Given the description of an element on the screen output the (x, y) to click on. 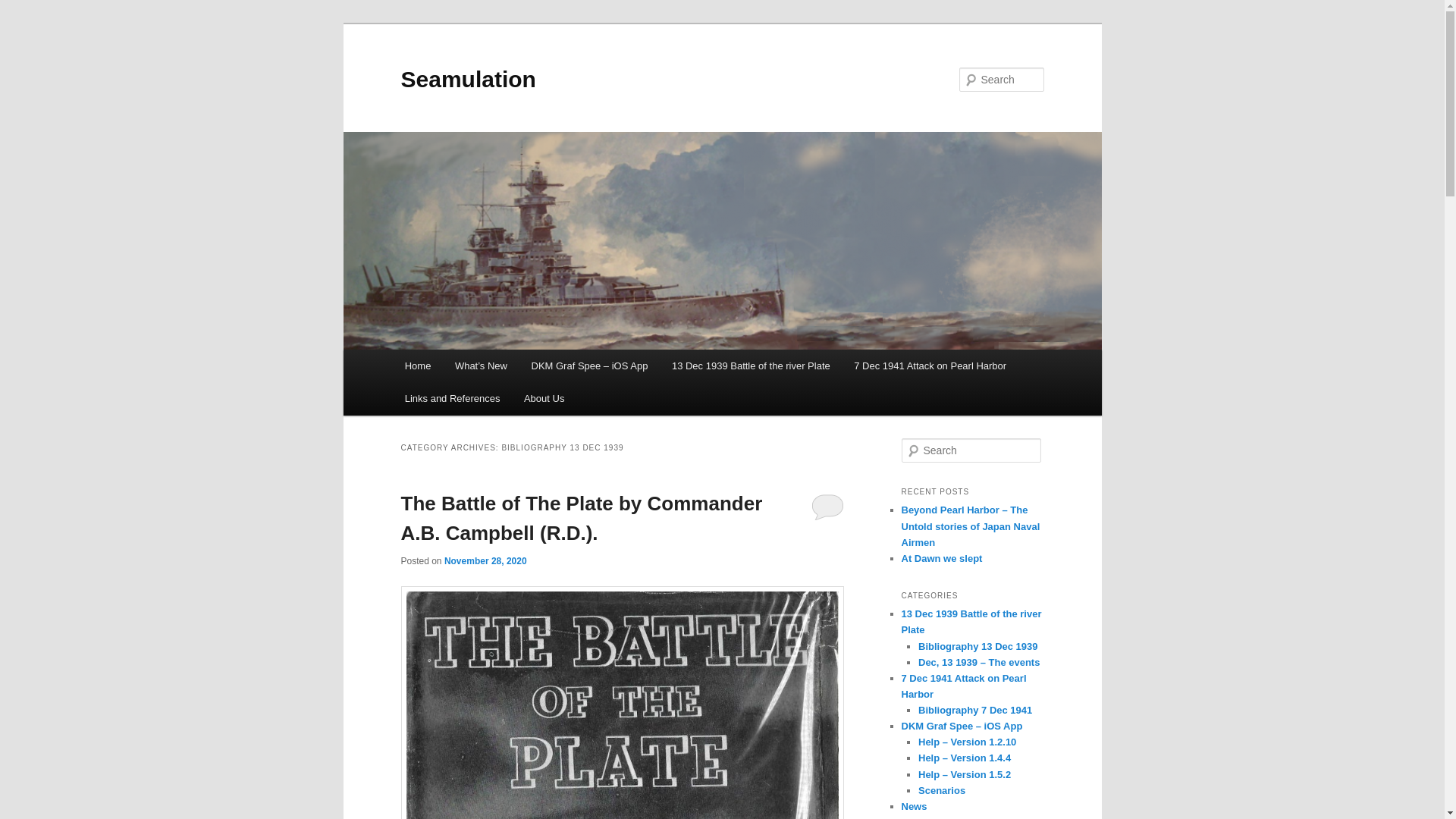
November 28, 2020 (485, 561)
7 Dec 1941 Attack on Pearl Harbor (930, 365)
13 Dec 1939 Battle of the river Plate (750, 365)
Links and References (452, 398)
Search (24, 8)
Seamulation (467, 78)
5:58 pm (485, 561)
Home (417, 365)
About Us (544, 398)
